Given the description of an element on the screen output the (x, y) to click on. 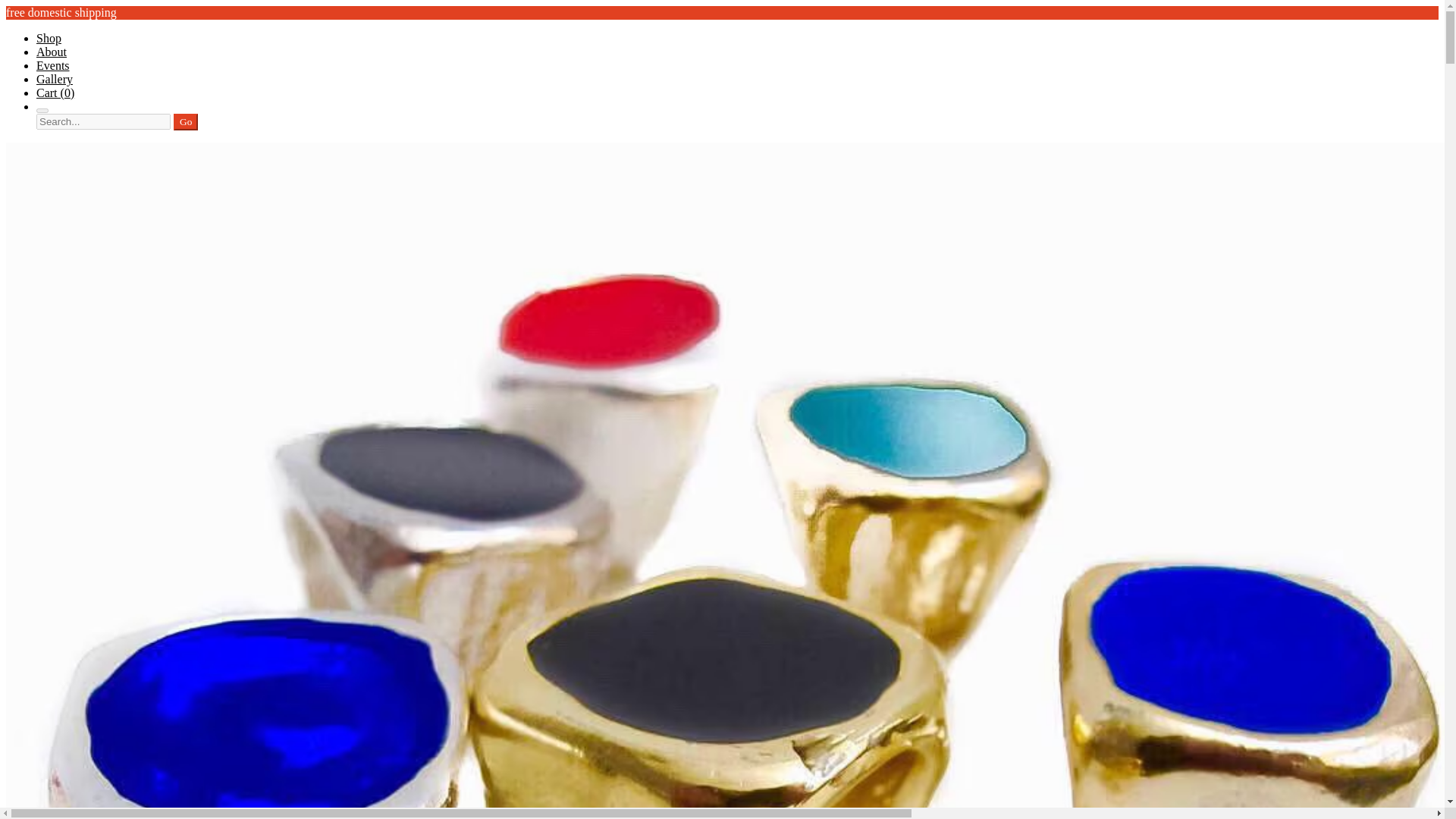
Shop (48, 38)
About (51, 51)
Events (52, 65)
Go (185, 121)
Gallery (54, 78)
Go (185, 121)
